Given the description of an element on the screen output the (x, y) to click on. 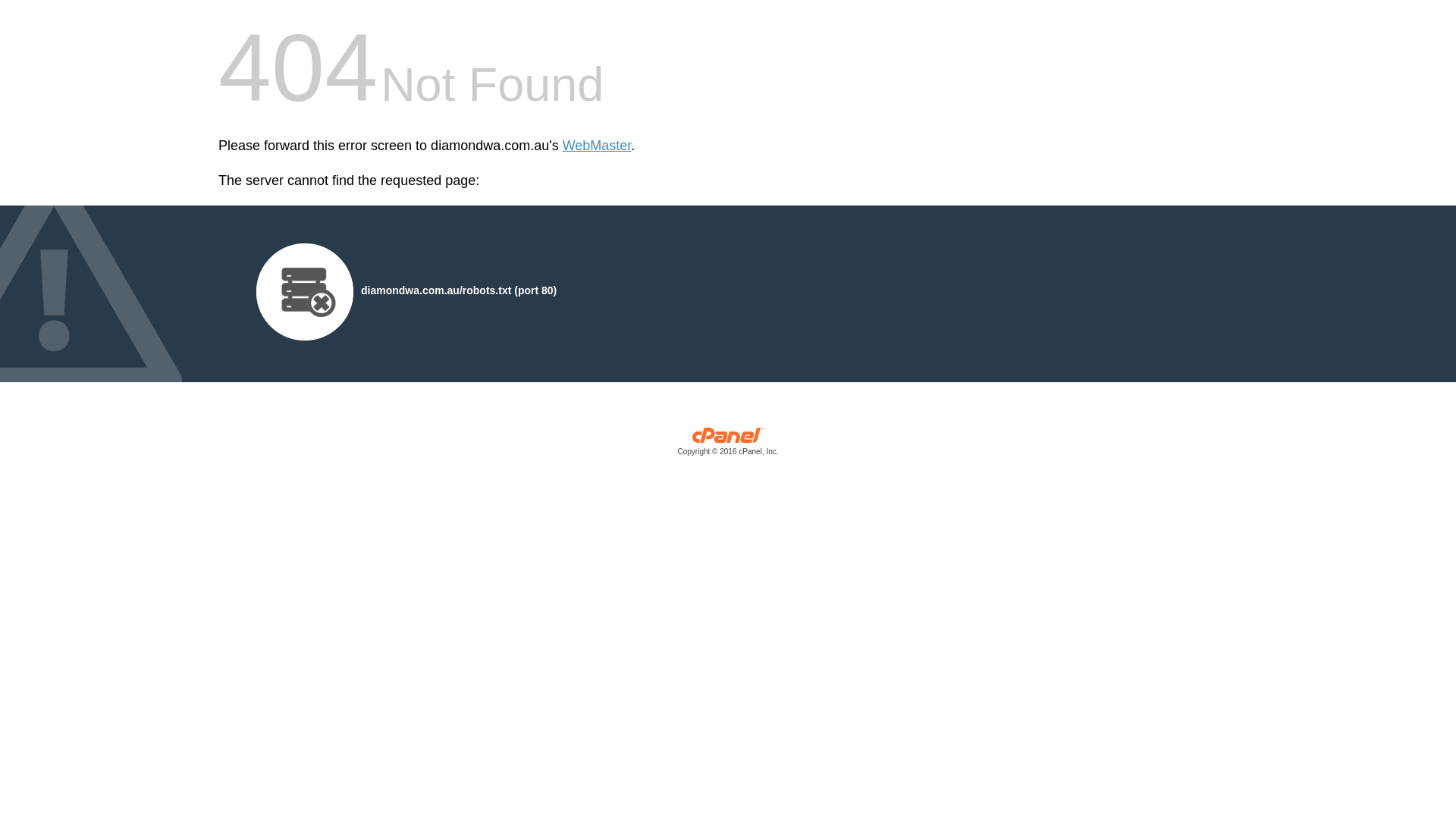
WebMaster Element type: text (596, 145)
